Given the description of an element on the screen output the (x, y) to click on. 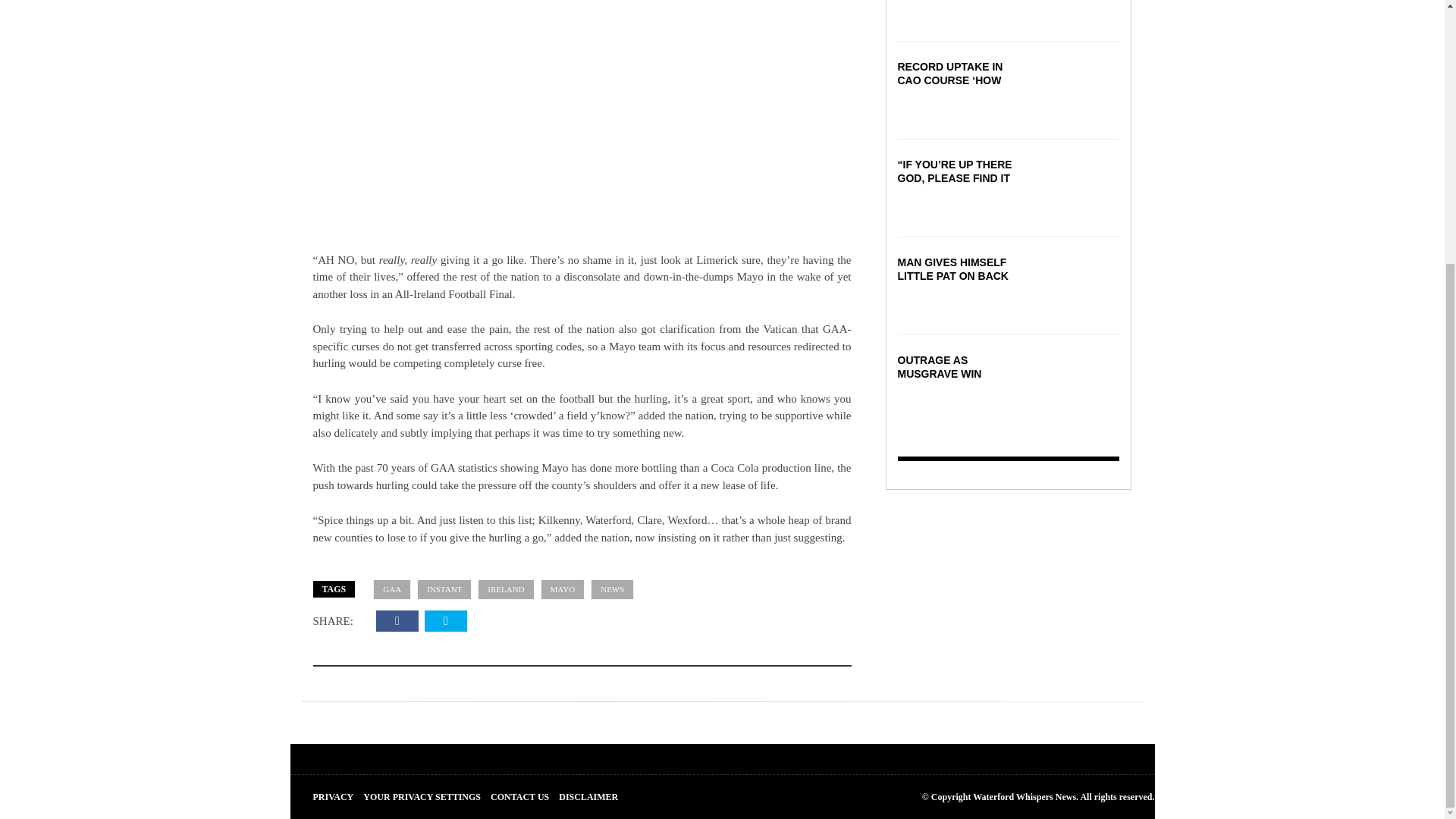
View all posts tagged news (612, 589)
View all posts tagged gaa (391, 589)
View all posts tagged mayo (562, 589)
View all posts tagged instant (443, 589)
View all posts tagged ireland (505, 589)
